Given the description of an element on the screen output the (x, y) to click on. 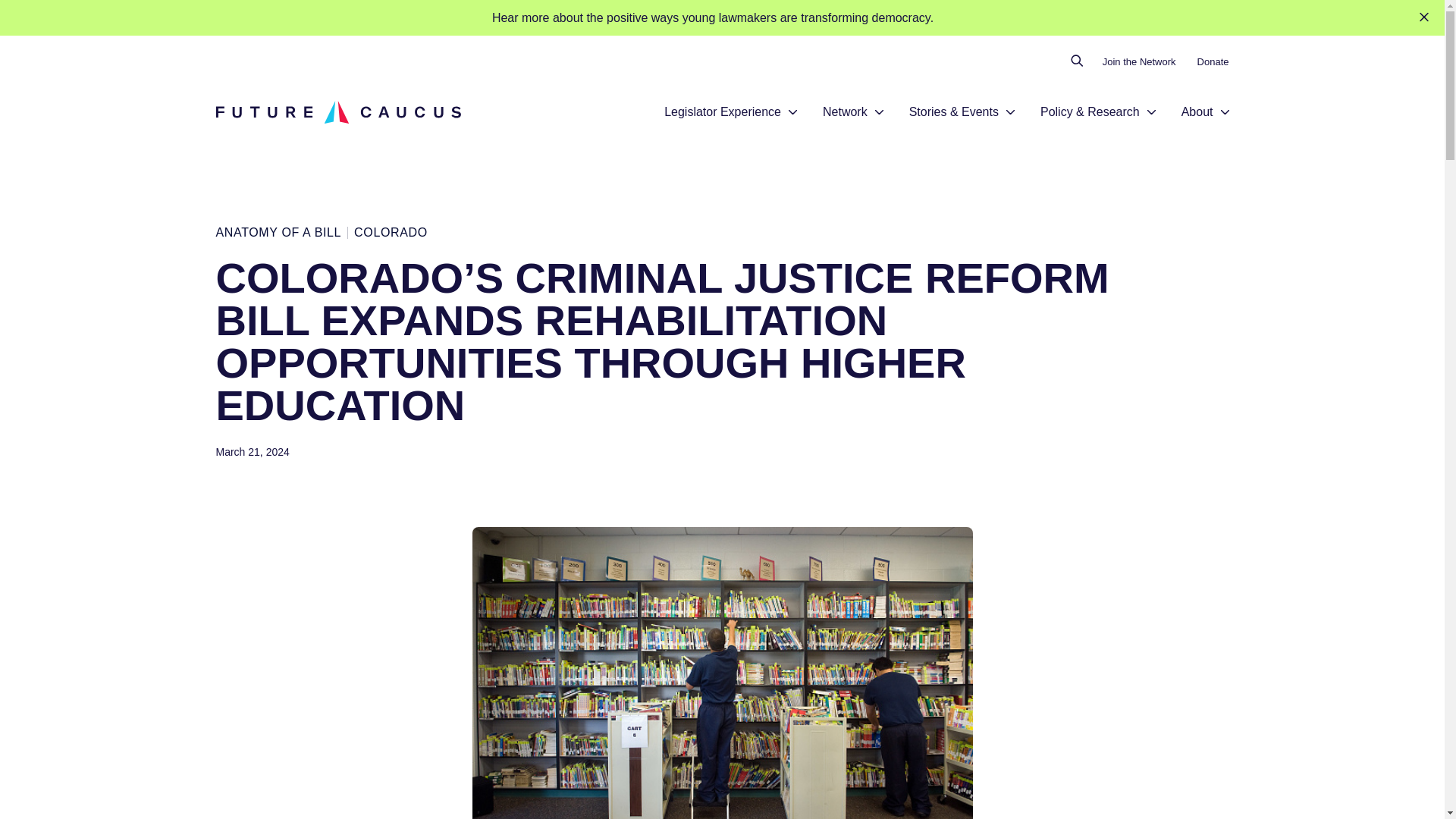
About (1197, 112)
Network (845, 112)
Legislator Experience (722, 112)
